Given the description of an element on the screen output the (x, y) to click on. 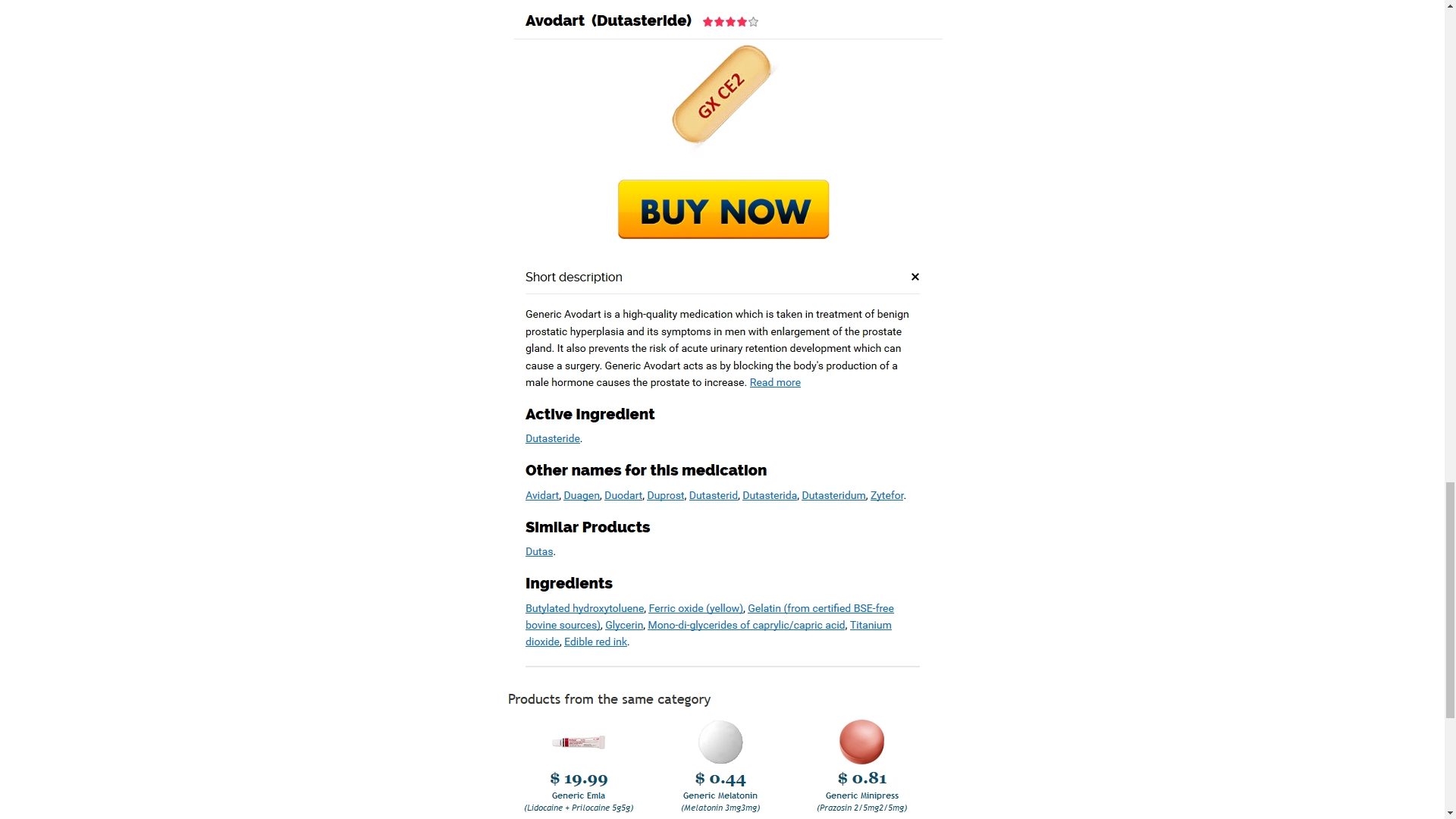
kimscommunitymedicine.org (738, 543)
How Much Methocarbamol Cost (613, 327)
Discount Pharmacy Atarax (404, 418)
